Given the description of an element on the screen output the (x, y) to click on. 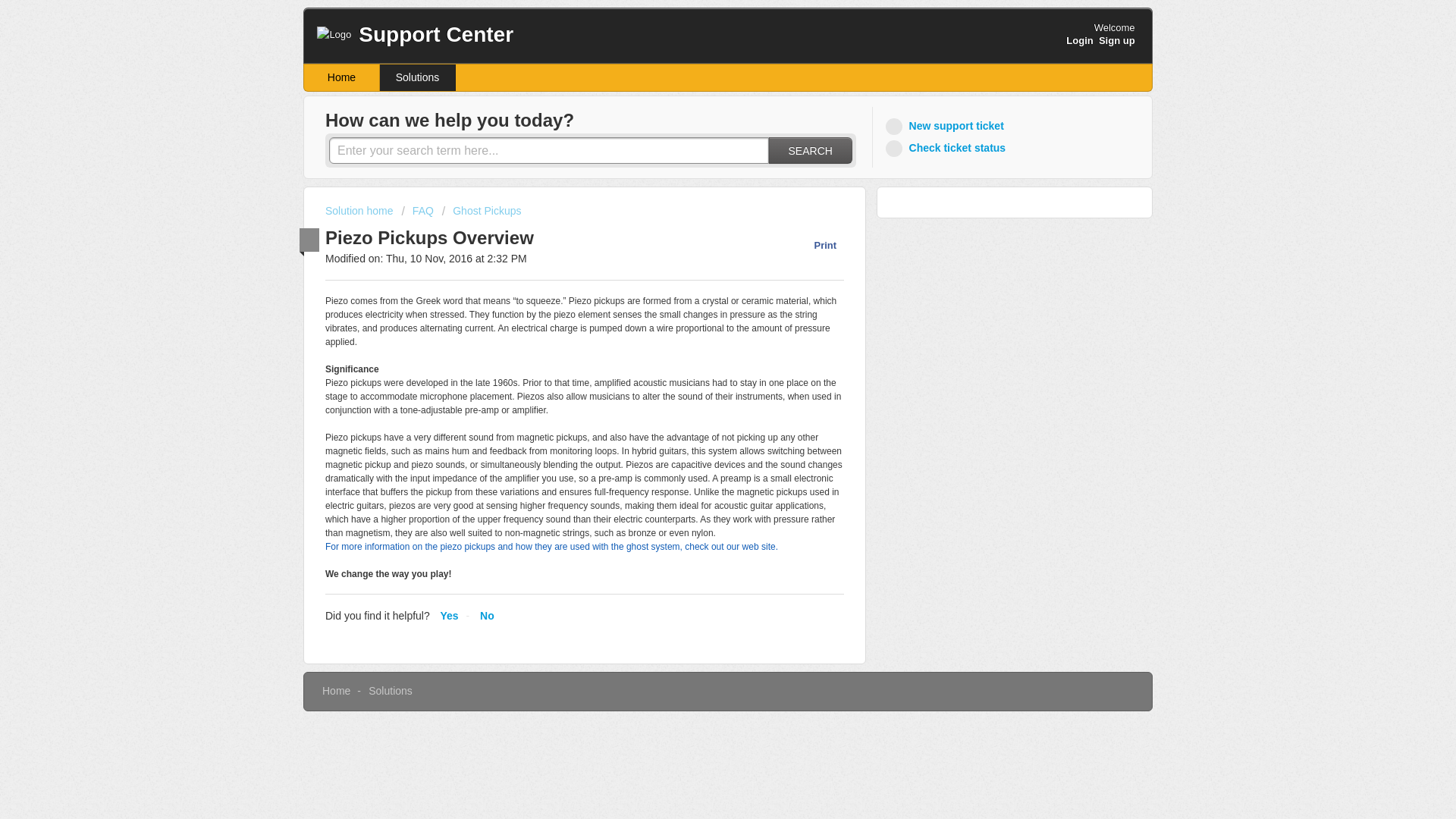
Sign up (1117, 40)
Solutions (417, 77)
New support ticket (946, 126)
Home (342, 77)
SEARCH (809, 150)
Login (1079, 40)
Ghost Pickups (481, 210)
Print this Article (818, 244)
Home (335, 690)
Check ticket status (947, 147)
New support ticket (946, 126)
Solution home (360, 210)
Check ticket status (947, 147)
Print (818, 244)
